Given the description of an element on the screen output the (x, y) to click on. 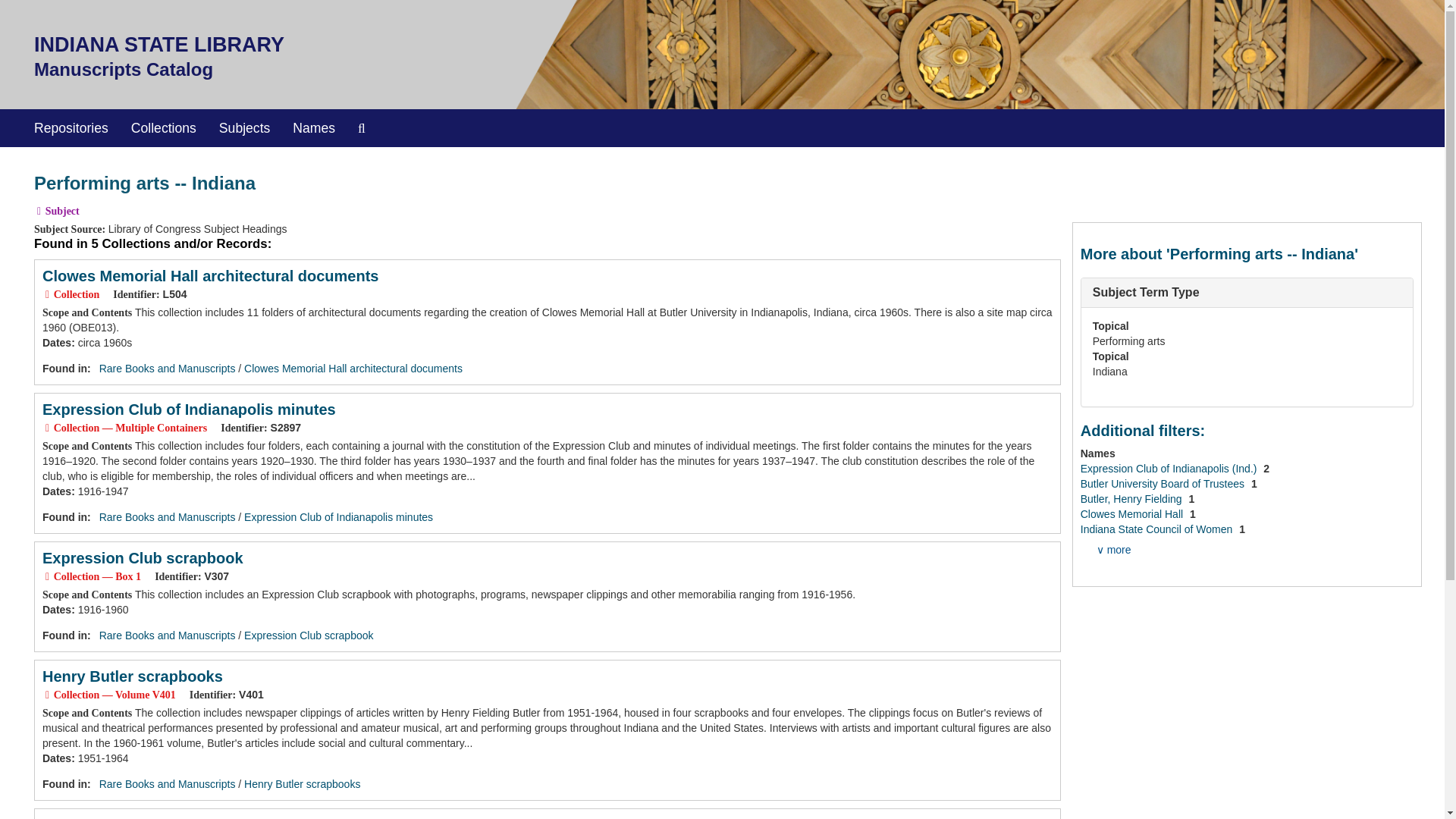
Henry Butler scrapbooks (301, 784)
Names (313, 127)
Rare Books and Manuscripts (167, 635)
Clowes Memorial Hall architectural documents (210, 275)
Rare Books and Manuscripts (167, 517)
translation missing: en.dates (56, 491)
Rare Books and Manuscripts (167, 368)
Filter By 'Butler University Board of Trustees' (1163, 483)
translation missing: en.dates (56, 758)
Subject Term Type (1146, 291)
